Given the description of an element on the screen output the (x, y) to click on. 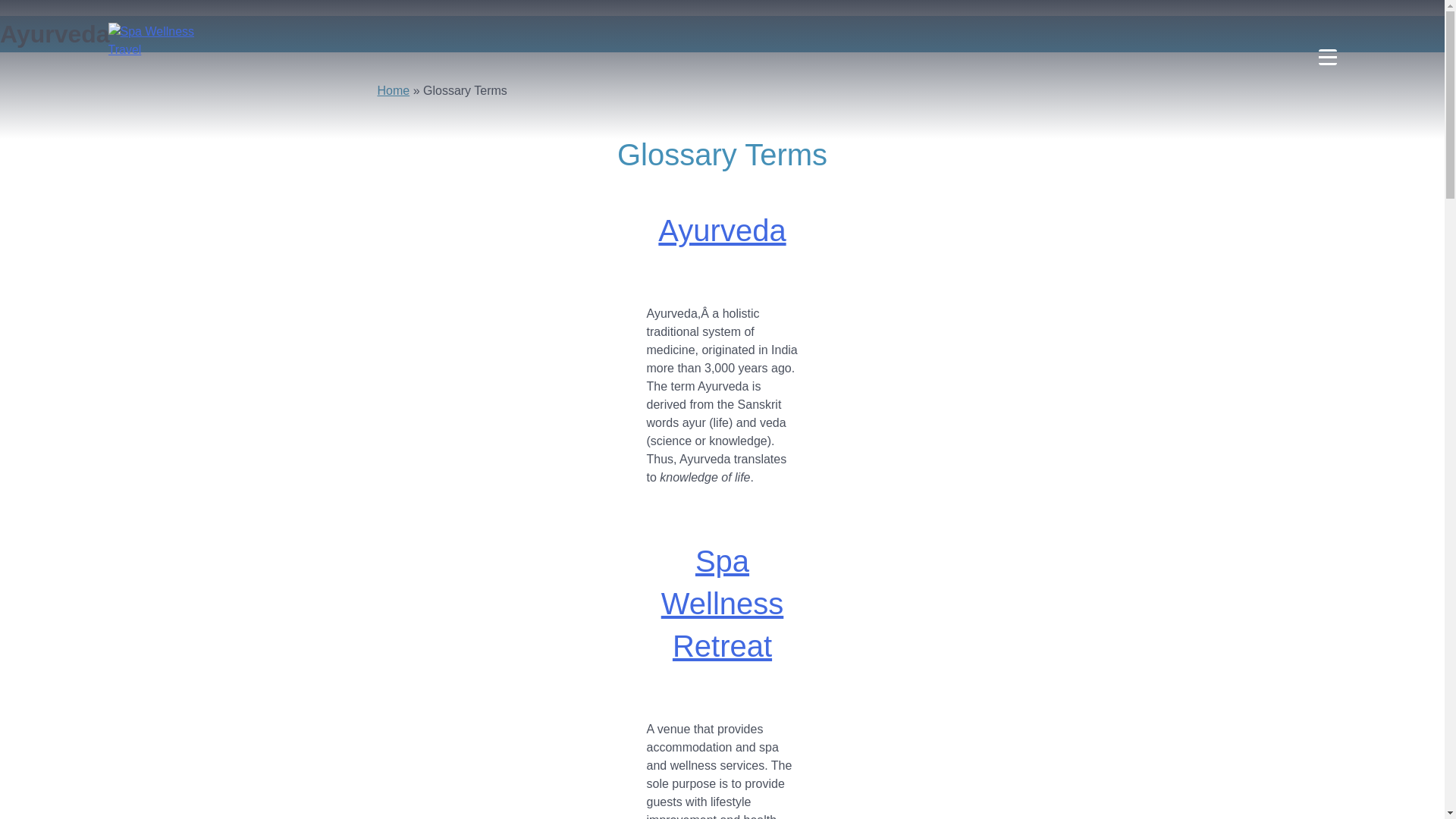
Primary Menu (1326, 56)
